Given the description of an element on the screen output the (x, y) to click on. 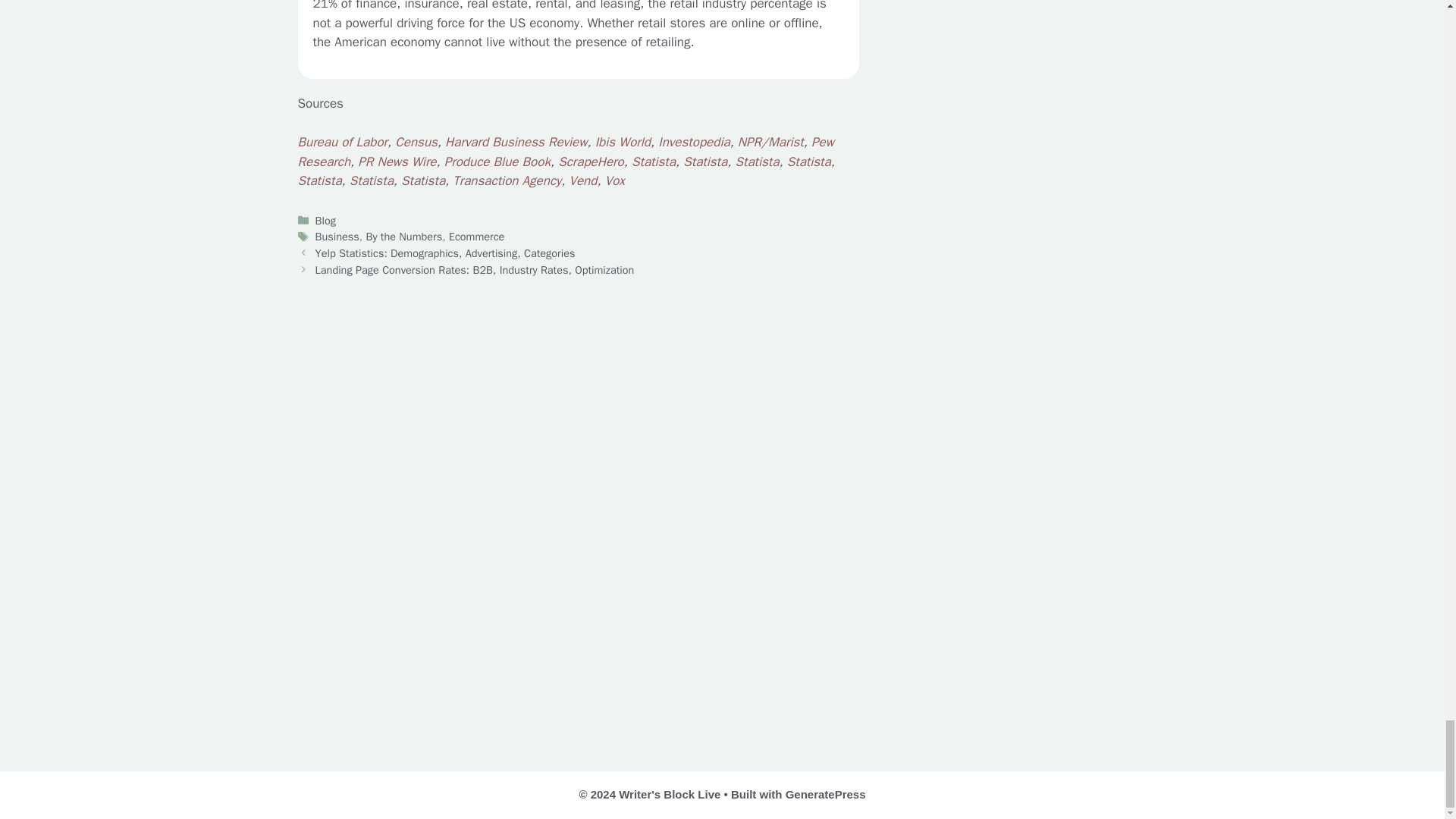
Harvard Business Review (515, 141)
Produce Blue Book (497, 161)
Ibis World (622, 141)
Bureau of Labor (342, 141)
Statista (653, 161)
Investopedia (693, 141)
Census (416, 141)
ScrapeHero (590, 161)
PR News Wire (396, 161)
Pew Research (564, 151)
